Given the description of an element on the screen output the (x, y) to click on. 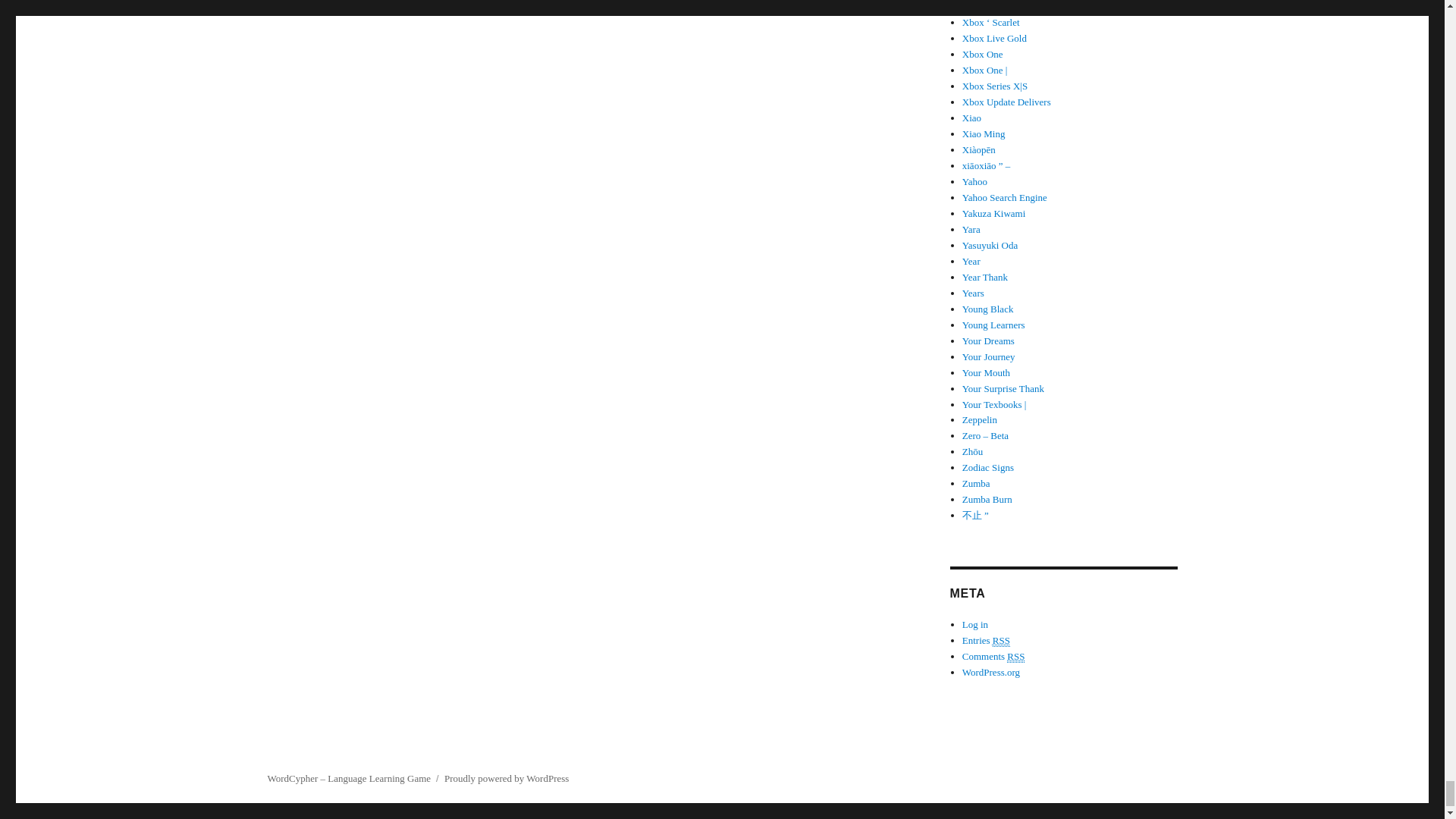
Really Simple Syndication (1016, 656)
Really Simple Syndication (1001, 640)
